Given the description of an element on the screen output the (x, y) to click on. 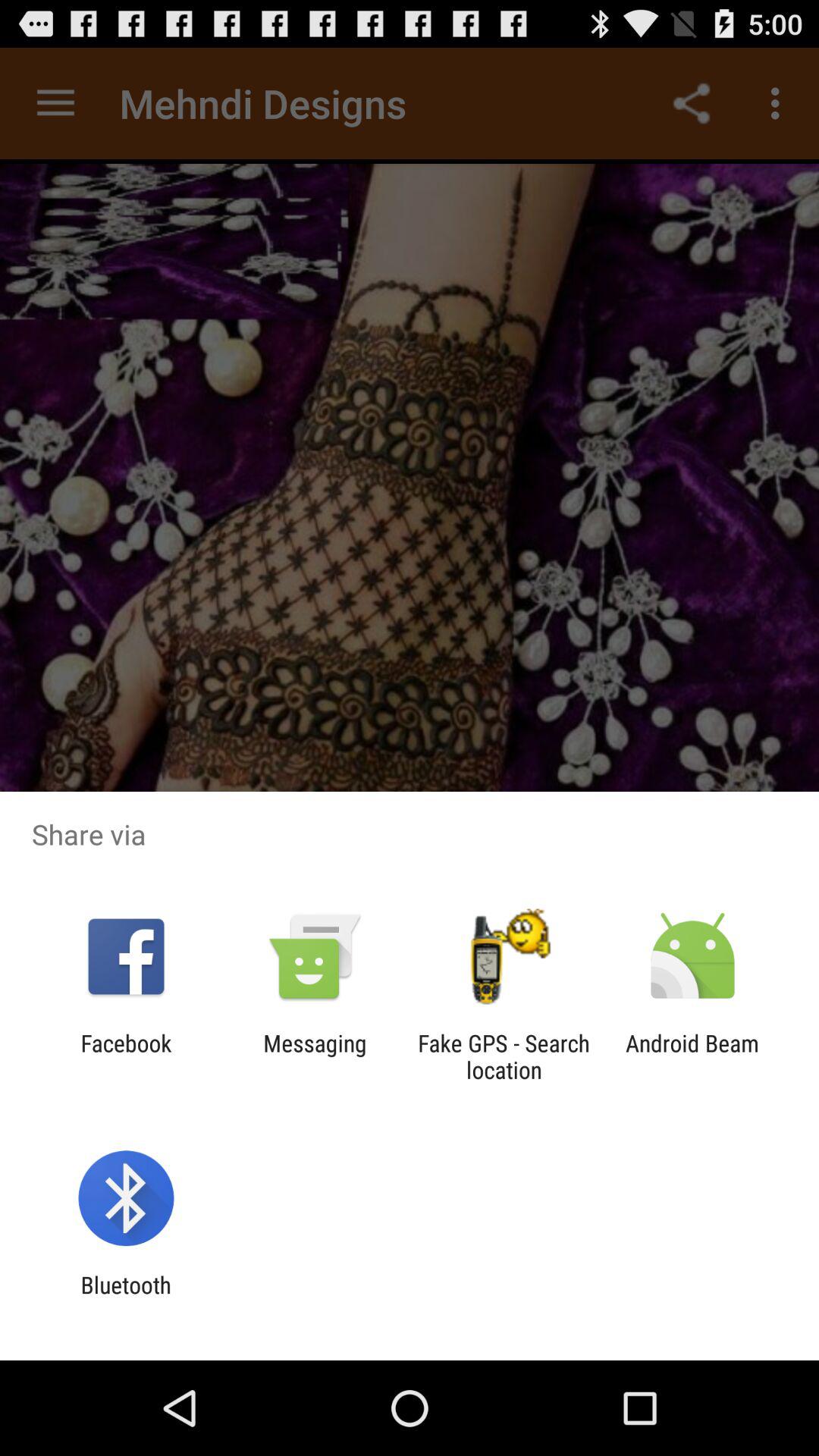
select the app next to fake gps search (692, 1056)
